Given the description of an element on the screen output the (x, y) to click on. 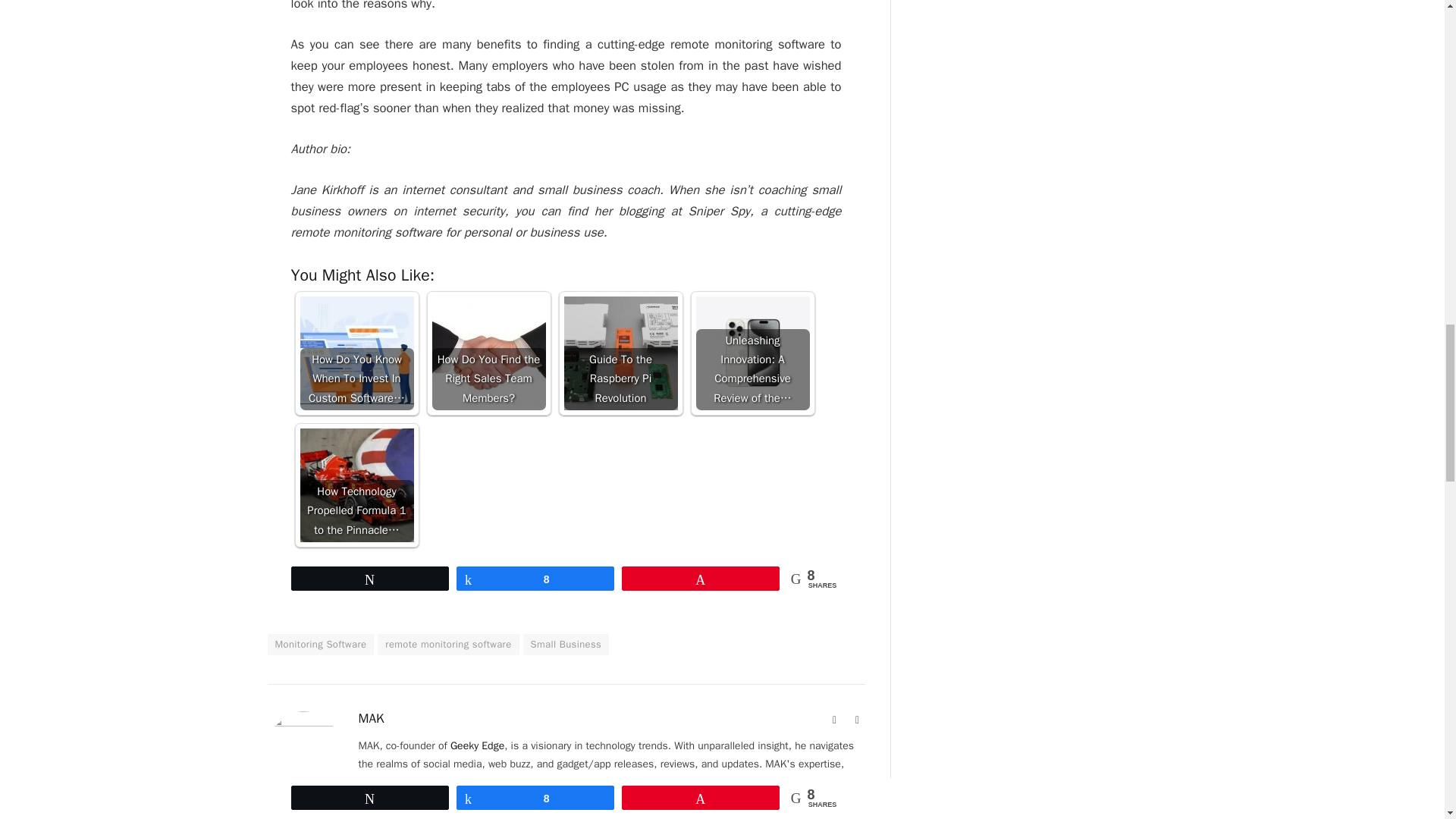
Posts by MAK (371, 718)
Guide To the Raspberry Pi Revolution (621, 353)
8 (534, 578)
Website (834, 720)
Guide To the Raspberry Pi Revolution (621, 353)
Small Business (566, 644)
MAK (371, 718)
How Do You Find the Right Sales Team Members? (489, 353)
Monitoring Software (320, 644)
remote monitoring software (447, 644)
How Do You Find the Right Sales Team Members? (489, 353)
Geeky Edge (476, 745)
